Given the description of an element on the screen output the (x, y) to click on. 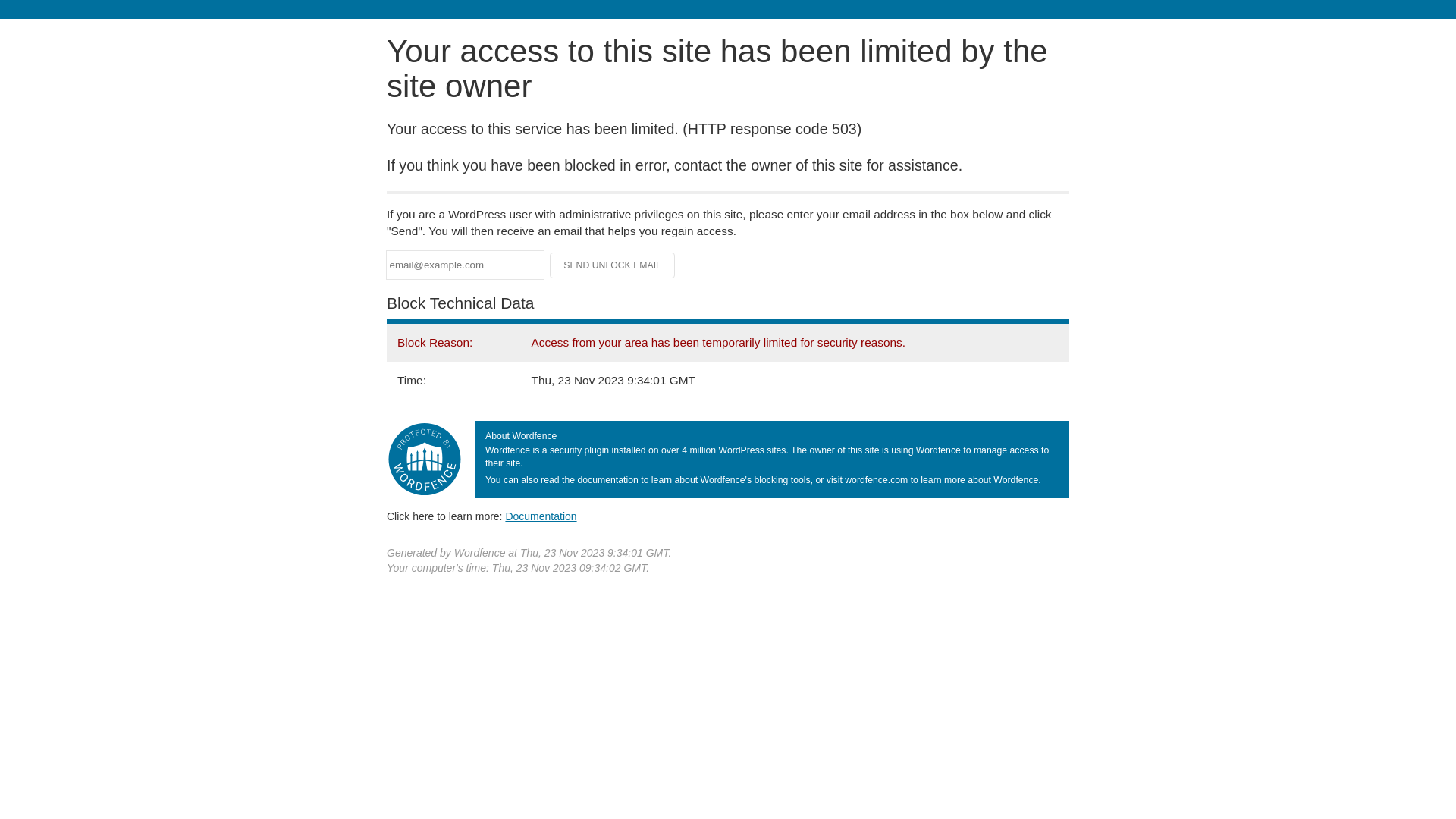
Documentation Element type: text (540, 516)
Send Unlock Email Element type: text (612, 265)
